Given the description of an element on the screen output the (x, y) to click on. 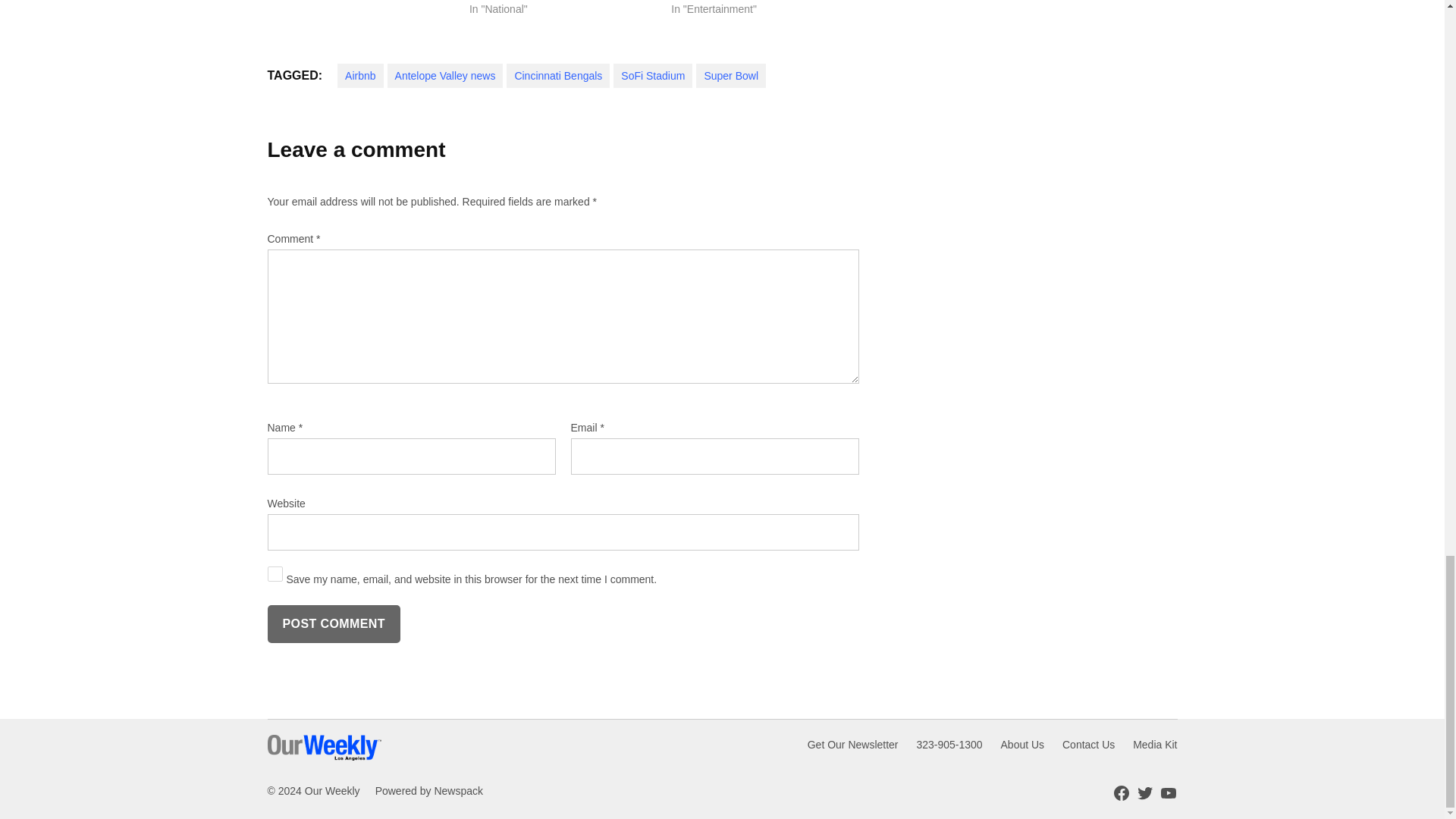
yes (274, 573)
Post Comment (332, 623)
